Given the description of an element on the screen output the (x, y) to click on. 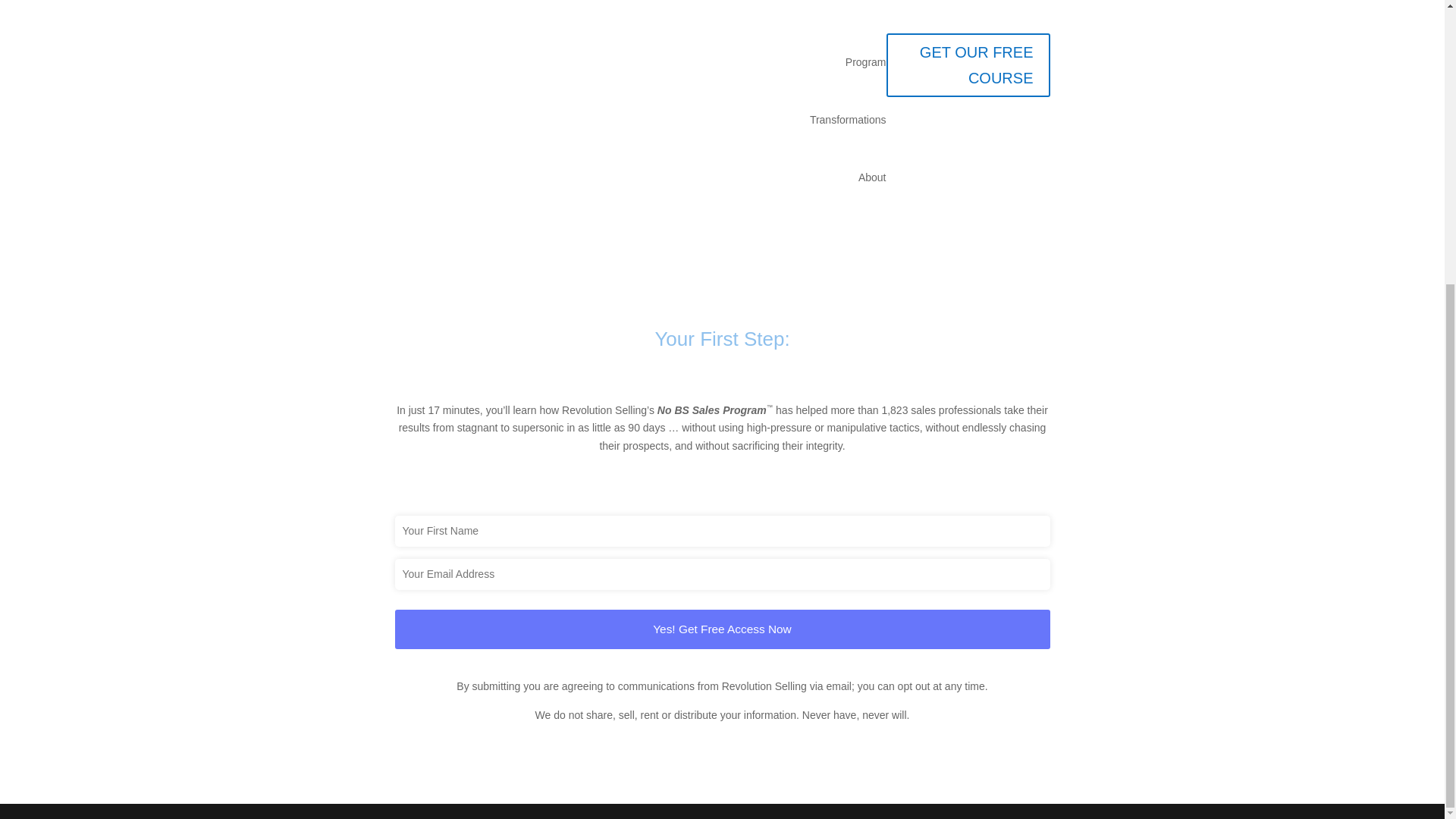
Yes! Get Free Access Now (721, 628)
GET OUR FREE COURSE (967, 65)
Transformations (847, 119)
